Given the description of an element on the screen output the (x, y) to click on. 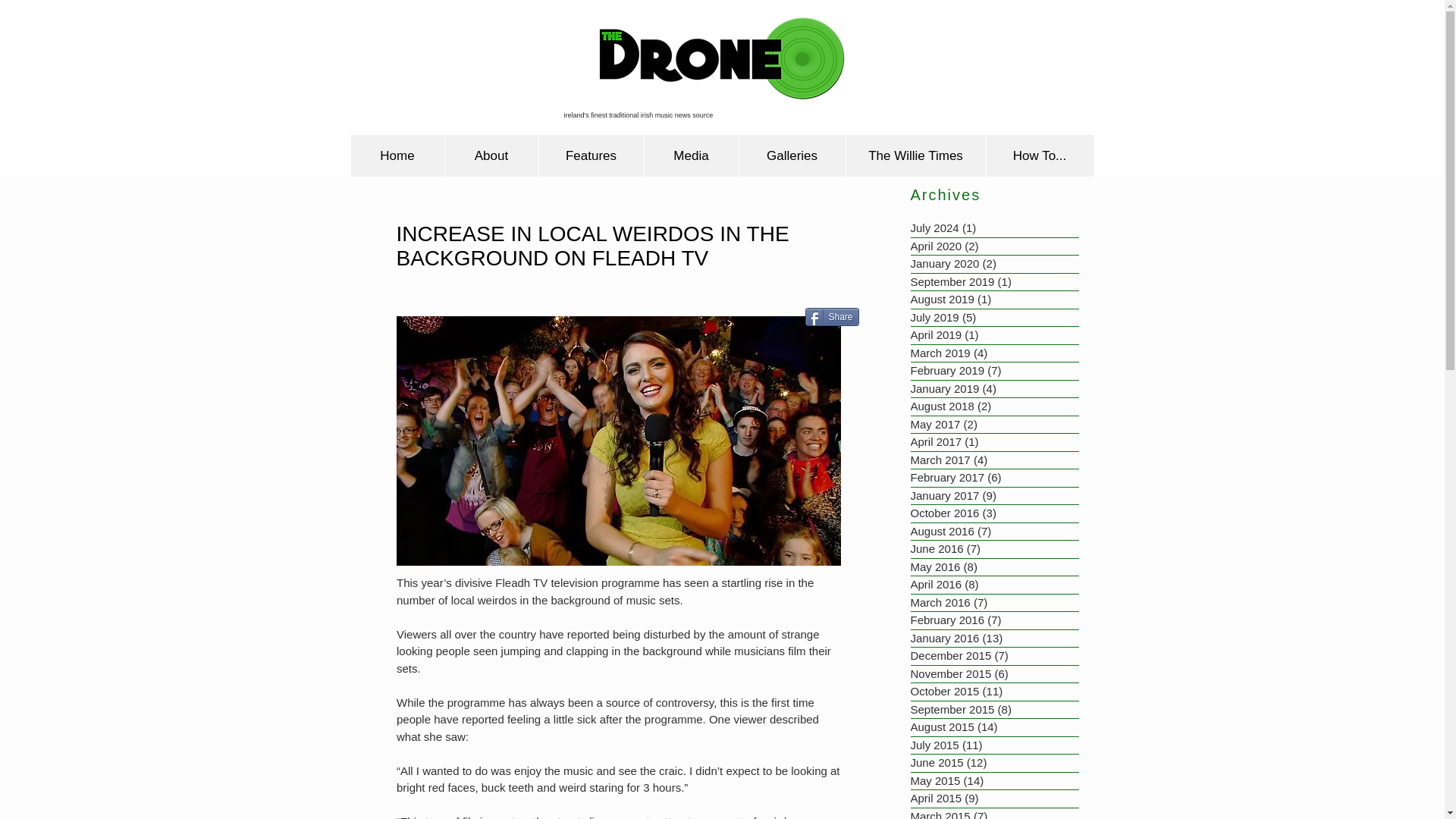
Features (590, 155)
About (491, 155)
Share (832, 316)
Media (690, 155)
Share (832, 316)
How To... (1039, 155)
Home (397, 155)
Galleries (791, 155)
The Willie Times (914, 155)
